Given the description of an element on the screen output the (x, y) to click on. 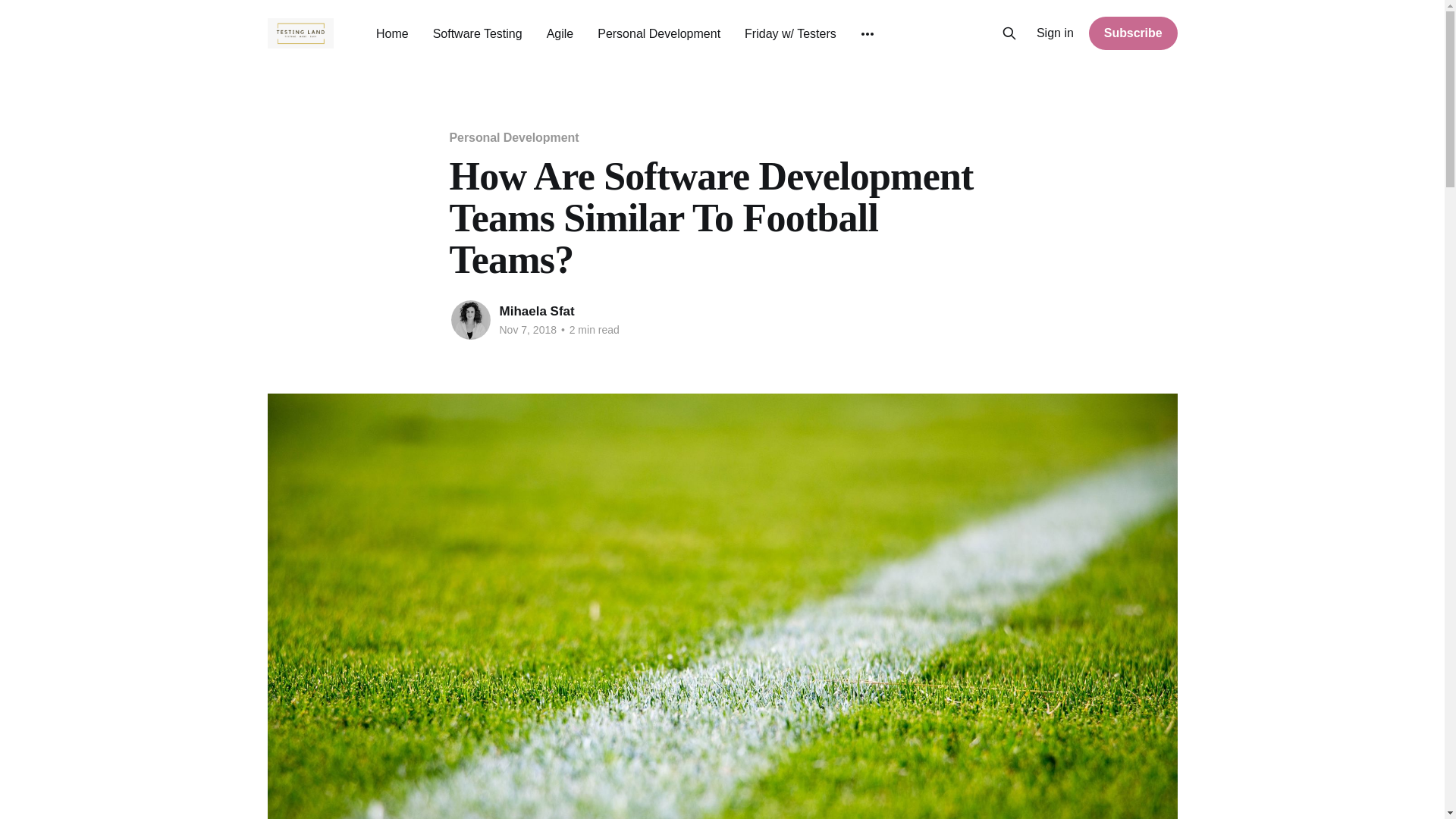
Personal Development (658, 33)
Personal Development (513, 137)
Home (392, 33)
Mihaela Sfat (536, 310)
Agile (560, 33)
Subscribe (1133, 32)
Sign in (1055, 33)
Software Testing (477, 33)
